Given the description of an element on the screen output the (x, y) to click on. 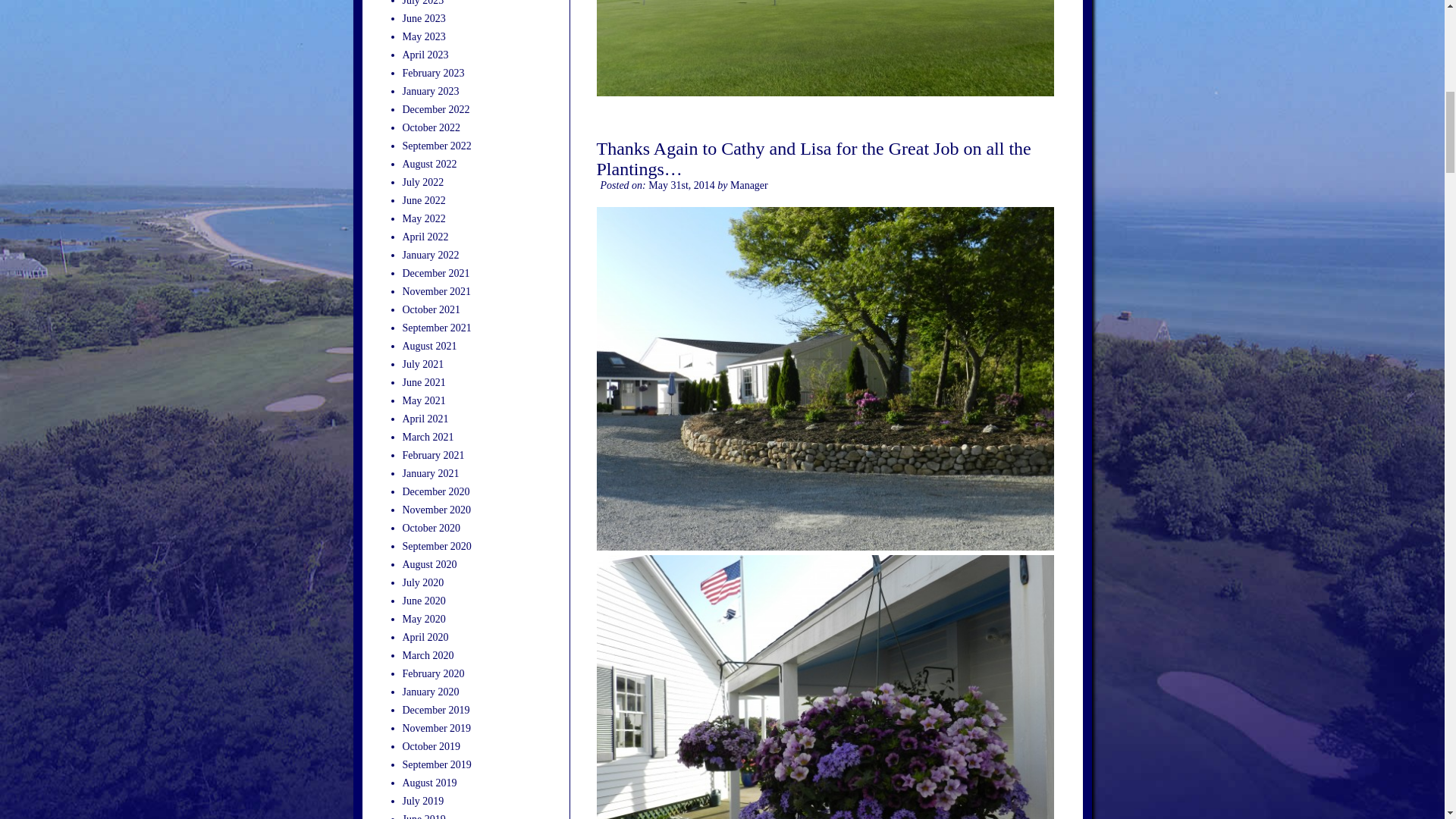
DSCN0438 (823, 48)
DSCN0431 (823, 687)
